Given the description of an element on the screen output the (x, y) to click on. 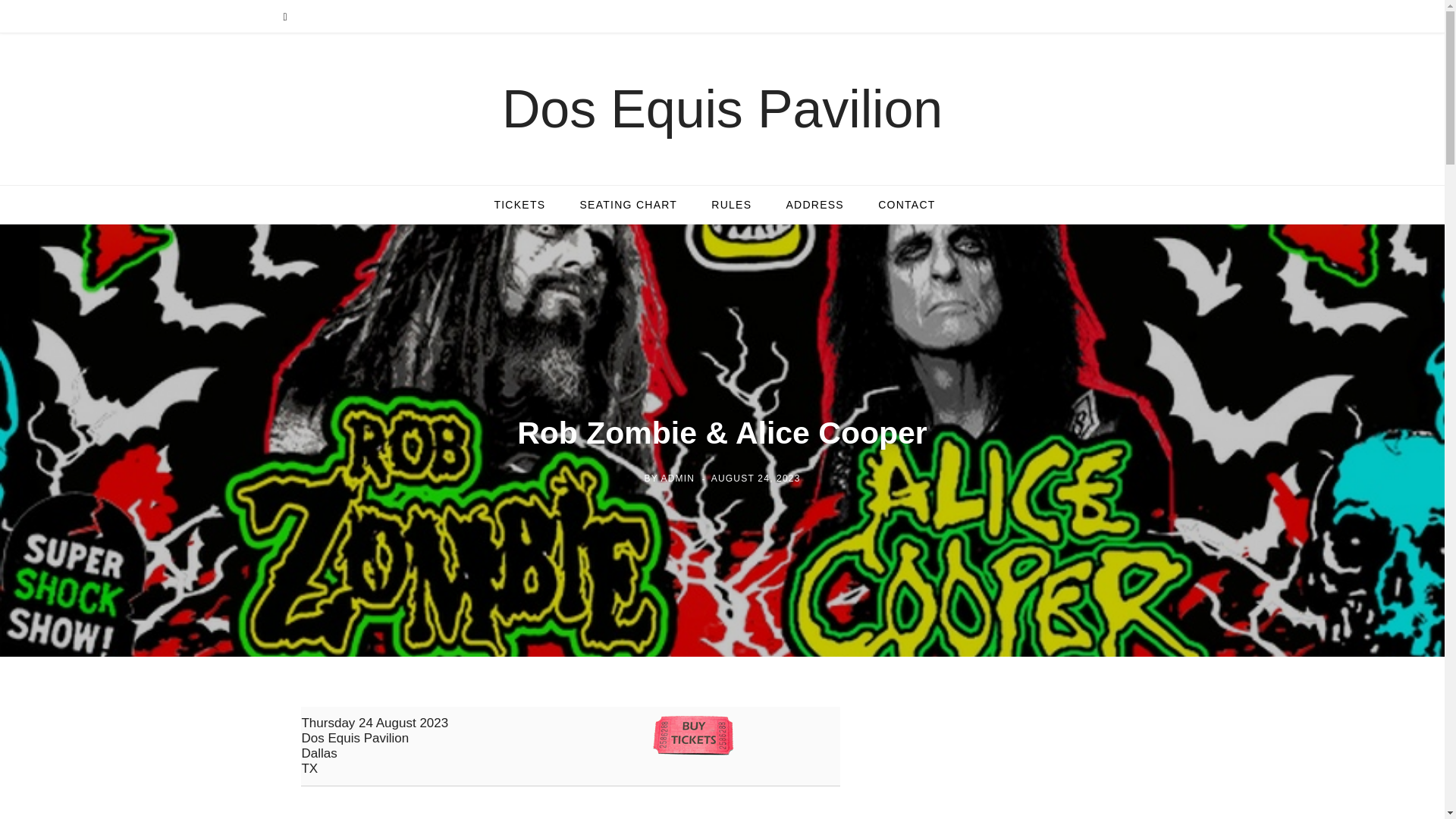
TICKETS (519, 204)
Dos Equis Pavilion Tickets (519, 204)
ADDRESS (814, 204)
RULES (731, 204)
Dos Equis Pavilion (722, 108)
Posts by admin (678, 479)
Dos Equis Pavilion Seating Chart (628, 204)
Dos Equis Pavilion Address (814, 204)
Dos Equis Pavilion Rules (731, 204)
Dos Equis Pavilion Contact (906, 204)
Dos Equis Pavilion (722, 108)
SEATING CHART (628, 204)
ADMIN (678, 479)
CONTACT (906, 204)
